Given the description of an element on the screen output the (x, y) to click on. 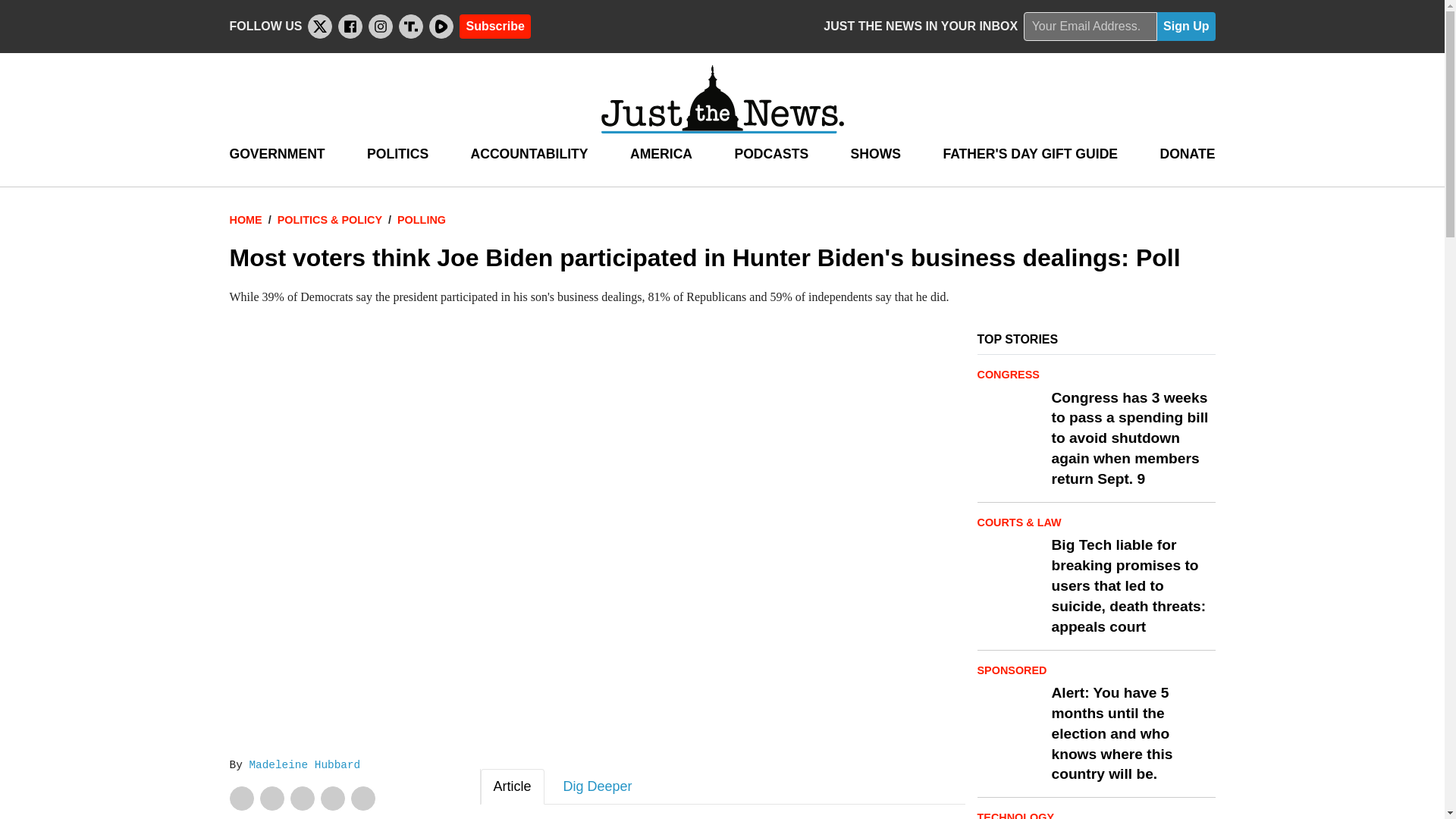
POLITICS (397, 153)
AMERICA (661, 153)
Sign Up (1185, 26)
FATHER'S DAY GIFT GUIDE (1030, 153)
Subscribe (494, 26)
Sign Up (1185, 26)
ACCOUNTABILITY (529, 153)
GOVERNMENT (276, 153)
DONATE (1186, 153)
